Given the description of an element on the screen output the (x, y) to click on. 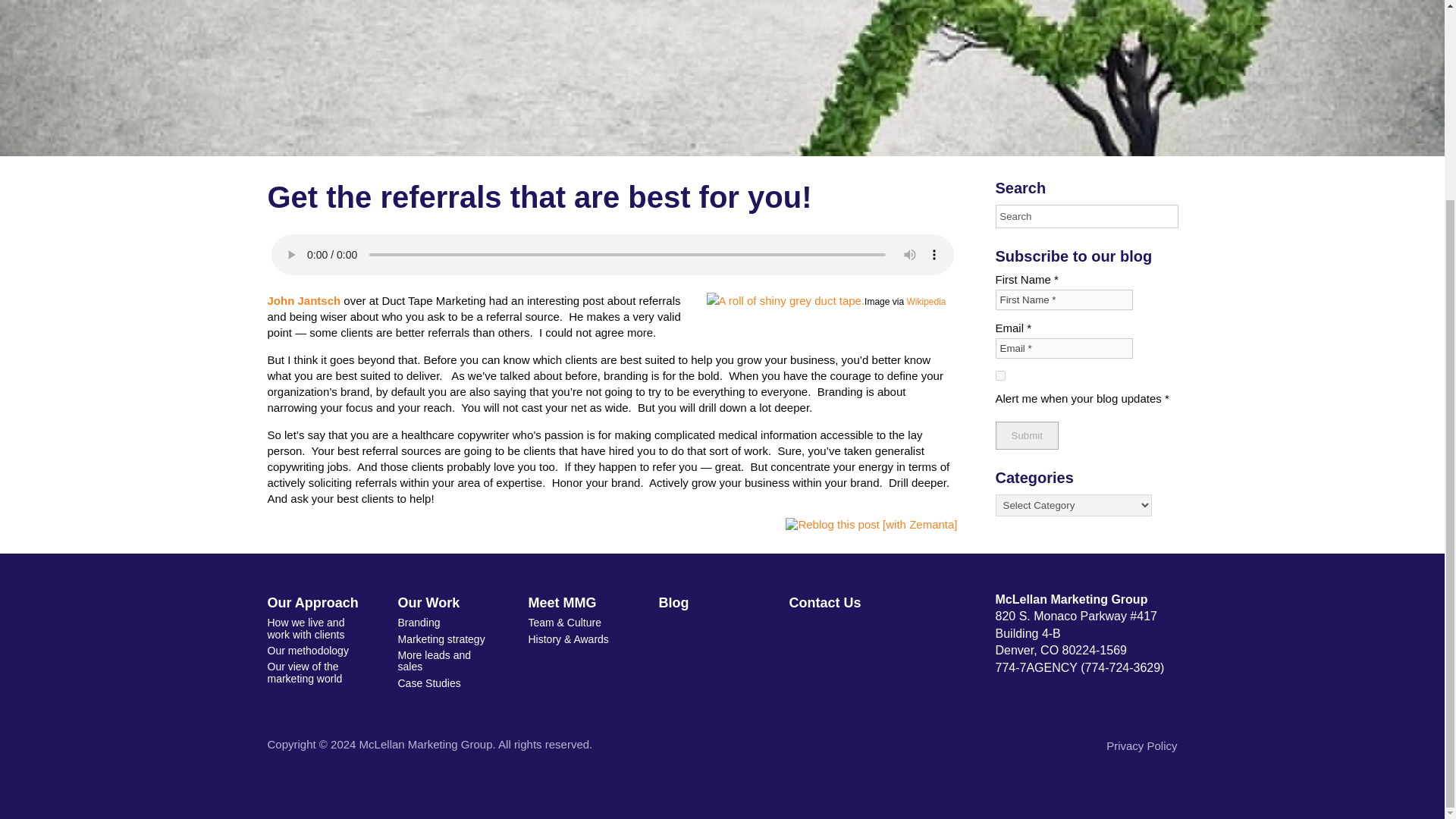
John Jantsch (303, 300)
496 (999, 375)
Search (1085, 216)
Wikipedia (924, 301)
A roll of shiny grey duct tape. (785, 300)
Submit (1026, 435)
Search (1085, 216)
